Given the description of an element on the screen output the (x, y) to click on. 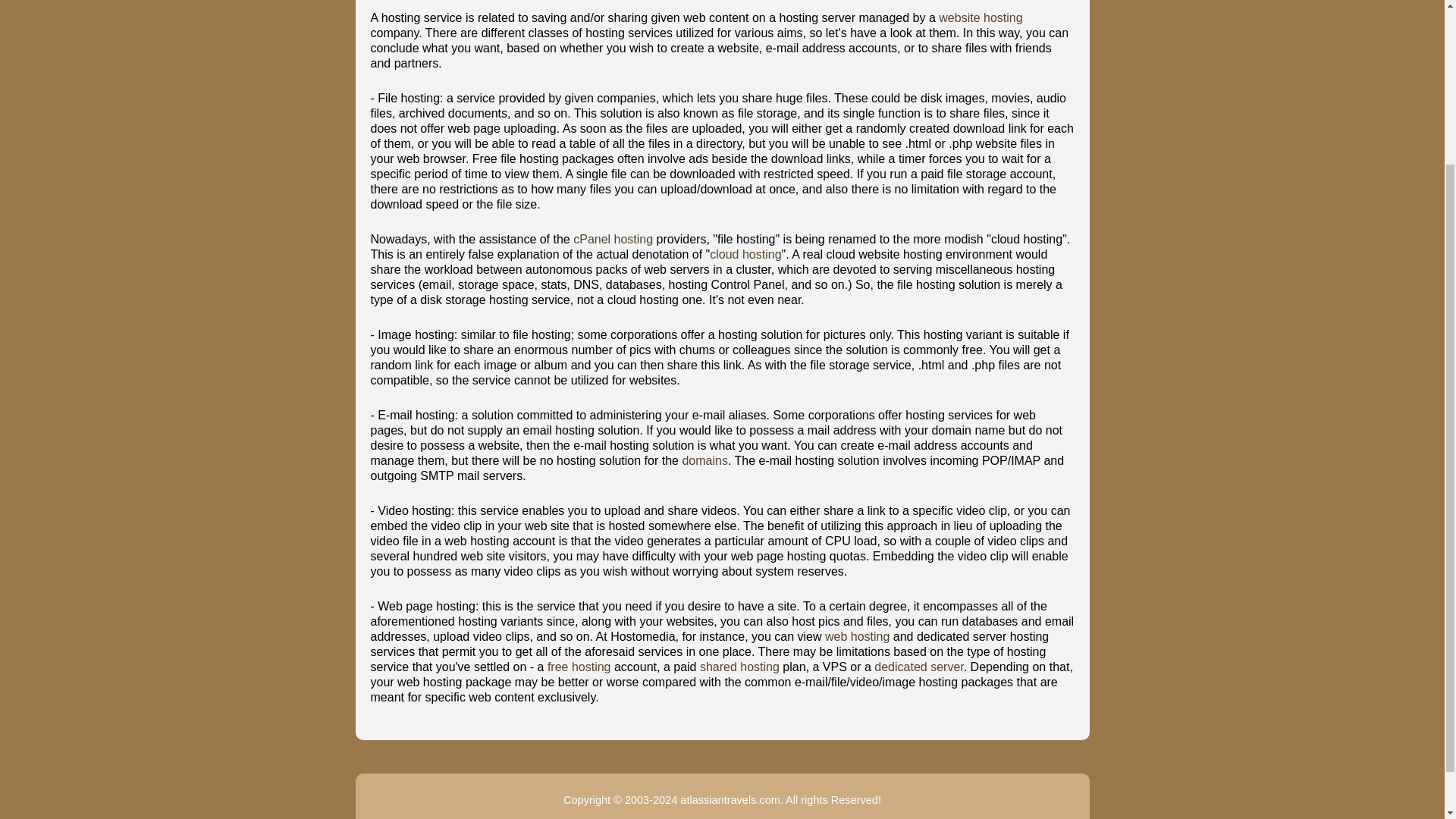
dedicated server (918, 666)
free hosting (579, 666)
web hosting (857, 635)
shared hosting (739, 666)
cPanel hosting (612, 238)
cloud hosting (745, 254)
website hosting (980, 17)
domains (703, 460)
atlassiantravels.com (729, 799)
